Given the description of an element on the screen output the (x, y) to click on. 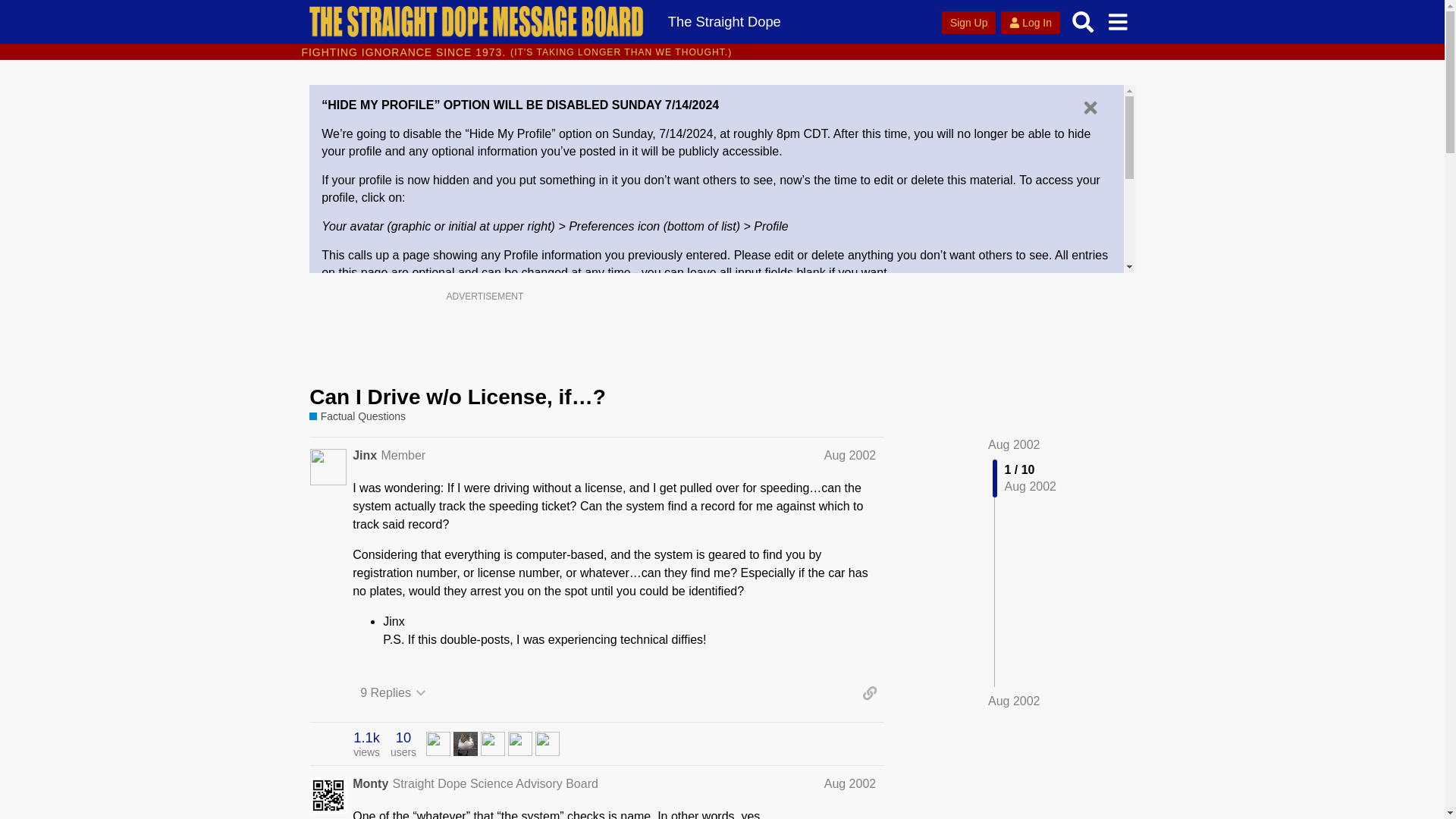
The Straight Dope (724, 22)
Straight Dope Science Advisory Board (495, 783)
Search (1082, 21)
Sign Up (968, 22)
Aug 2002 (850, 454)
Post date (850, 454)
Dismiss this banner (1090, 107)
Ringo (437, 742)
Jump to the first post (1014, 444)
The Straight Dope (724, 22)
